Given the description of an element on the screen output the (x, y) to click on. 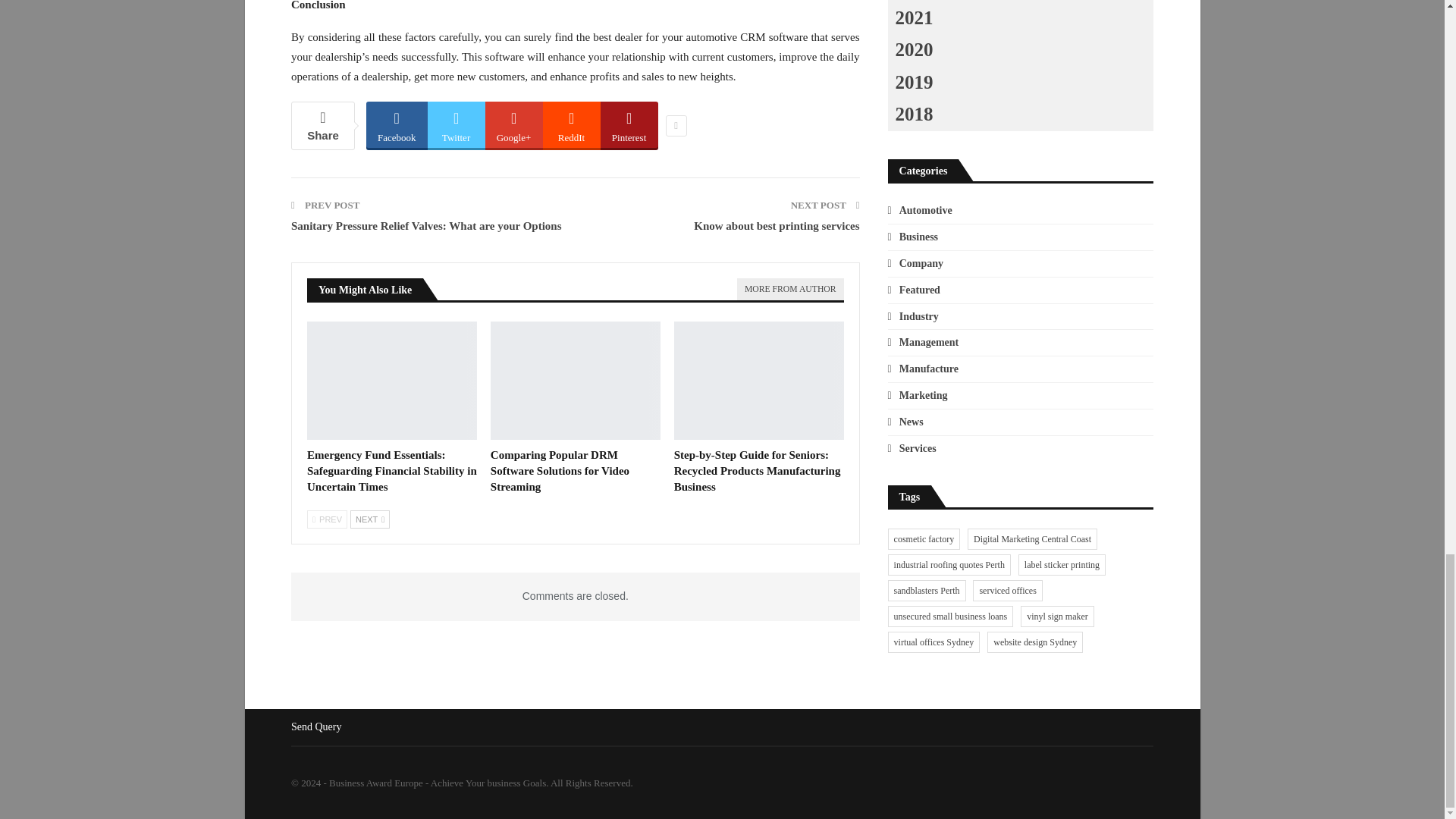
Facebook (397, 124)
MORE FROM AUTHOR (788, 289)
Know about best printing services (776, 225)
Twitter (456, 124)
Sanitary Pressure Relief Valves: What are your Options (426, 225)
Comparing Popular DRM Software Solutions for Video Streaming (559, 470)
Pinterest (628, 124)
Next (370, 519)
Comparing Popular DRM Software Solutions for Video Streaming (575, 380)
ReddIt (571, 124)
Previous (327, 519)
